Given the description of an element on the screen output the (x, y) to click on. 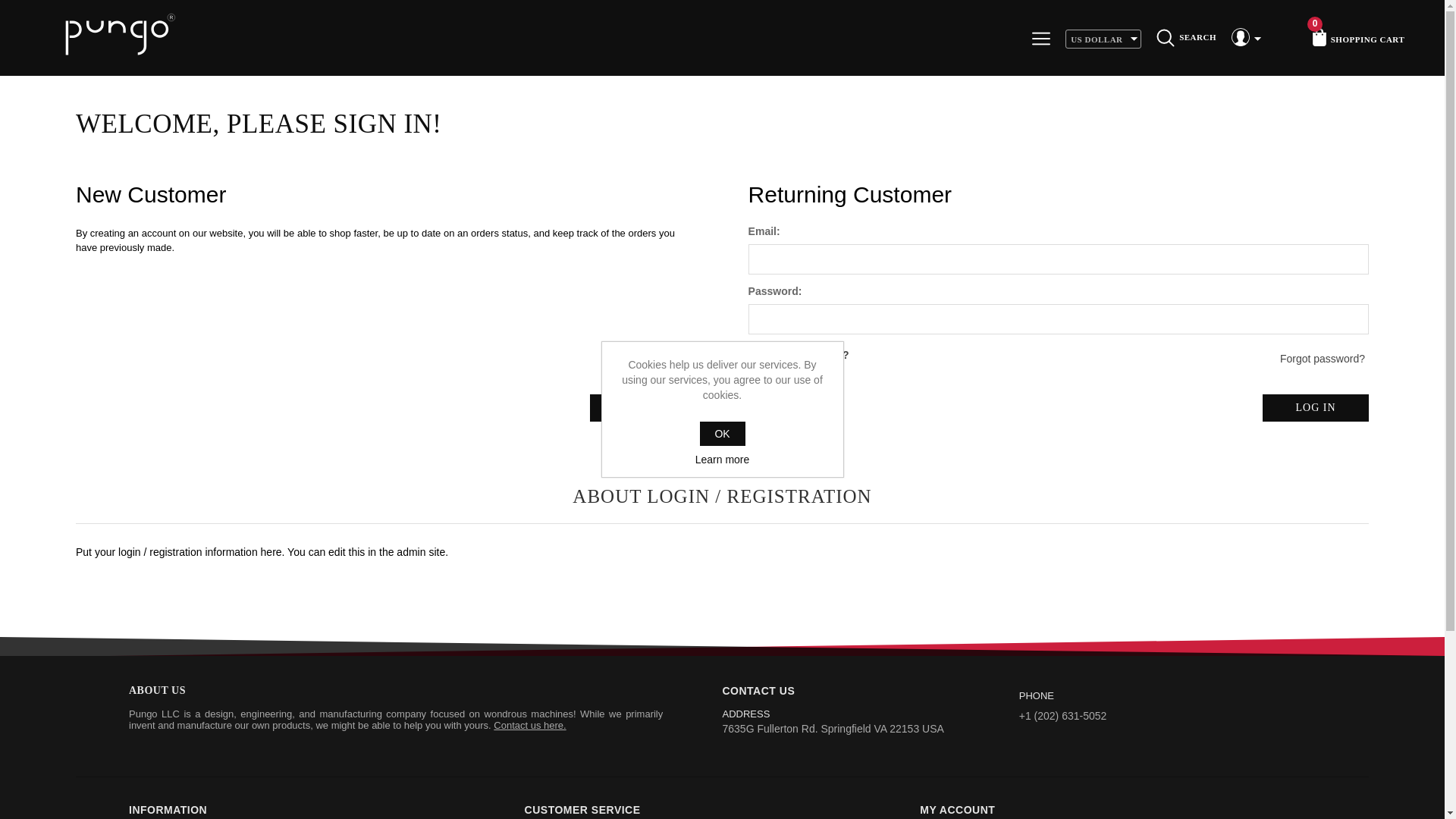
Forgot password? (1322, 357)
true (756, 354)
Contact us here. (529, 725)
Log in (1315, 407)
Log in (1315, 407)
Register (642, 407)
